Given the description of an element on the screen output the (x, y) to click on. 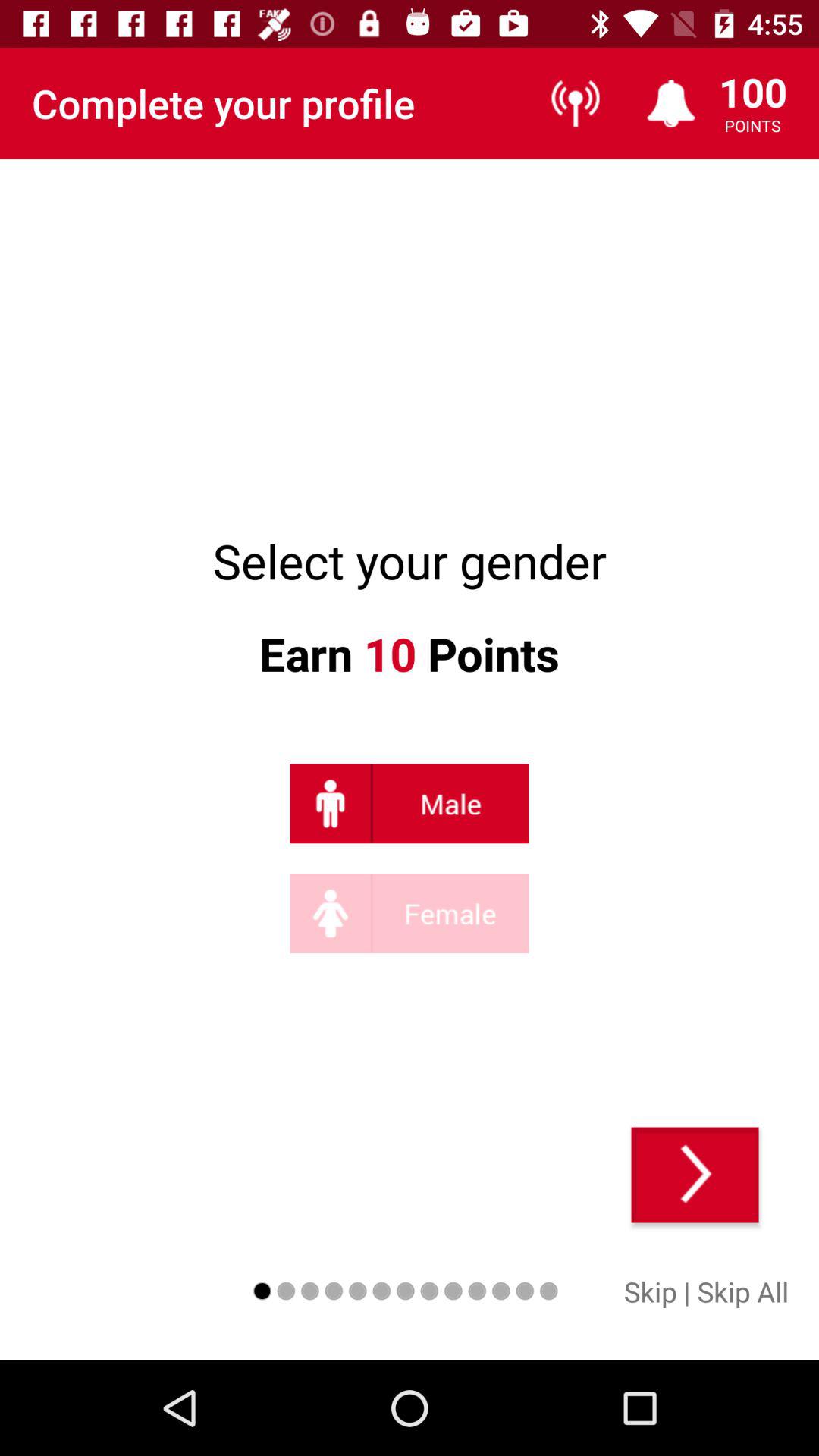
eu sou um homem (409, 803)
